Given the description of an element on the screen output the (x, y) to click on. 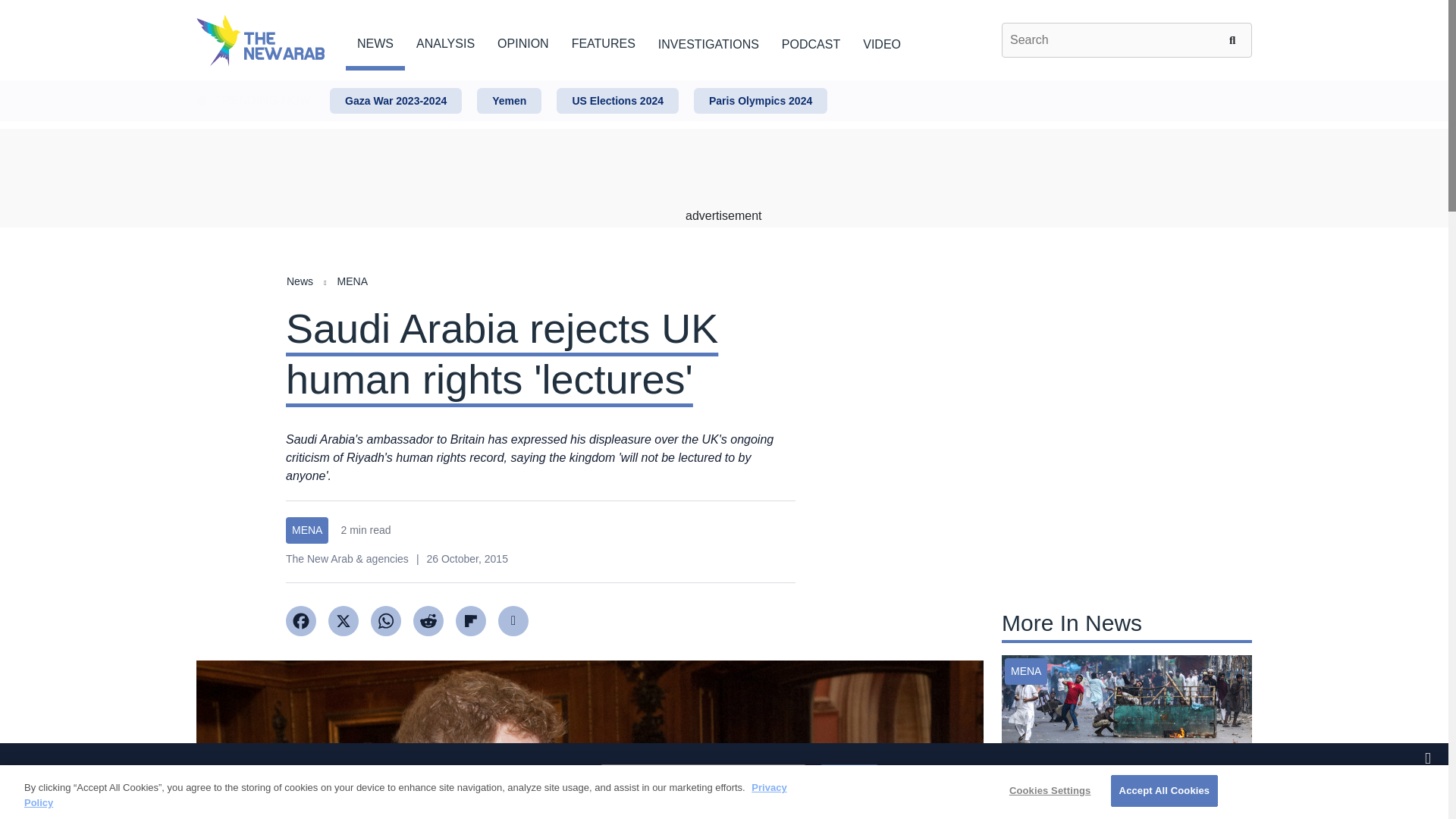
OPINION (523, 41)
NEWS (375, 41)
ANALYSIS (445, 41)
Skip to main content (724, 81)
Search (1234, 39)
